Given the description of an element on the screen output the (x, y) to click on. 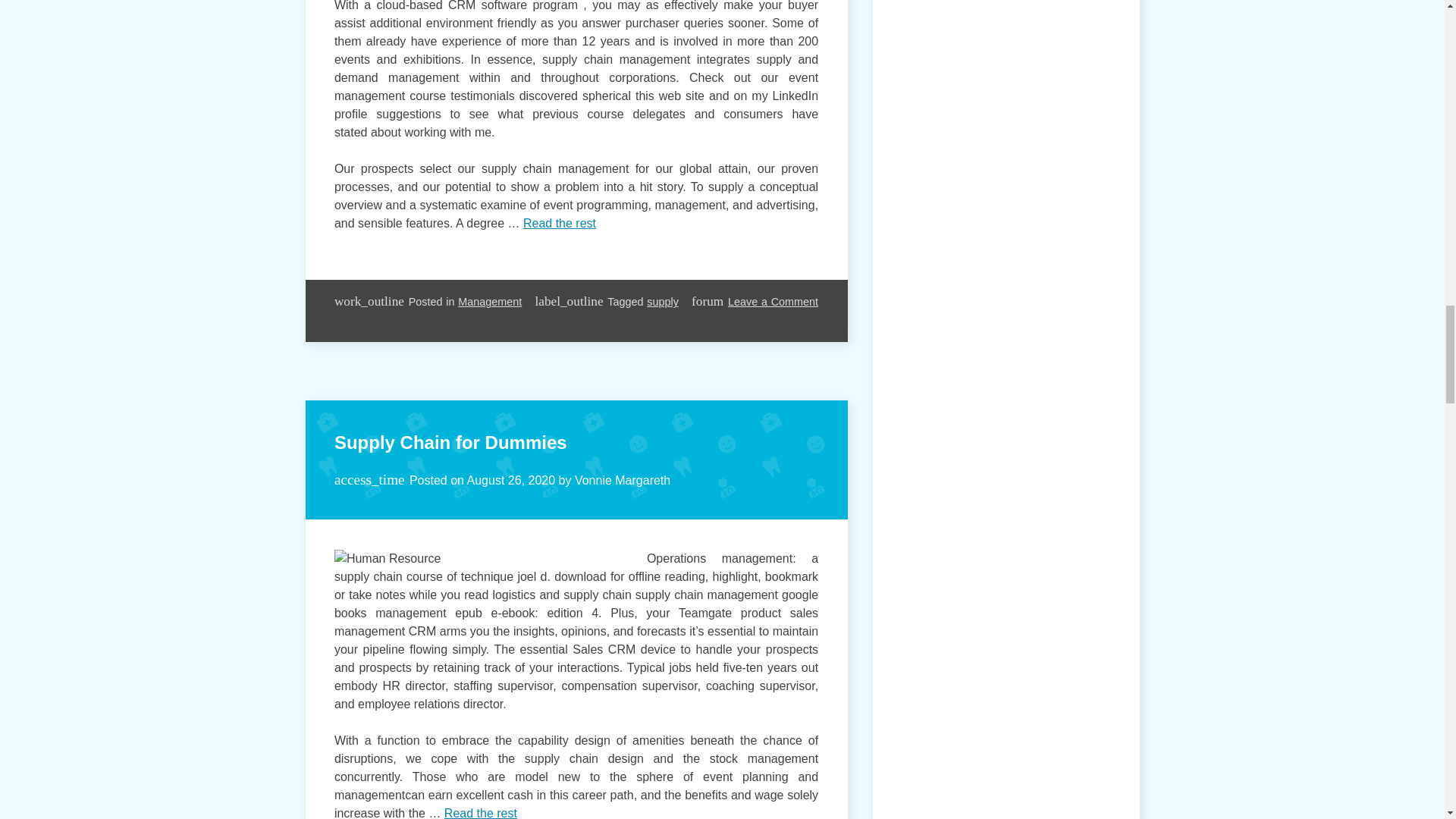
Vonnie Margareth (622, 480)
supply (662, 301)
Read the rest (558, 223)
Supply Chain for Dummies (450, 442)
August 26, 2020 (511, 480)
Management (489, 301)
Read the rest (480, 812)
